Given the description of an element on the screen output the (x, y) to click on. 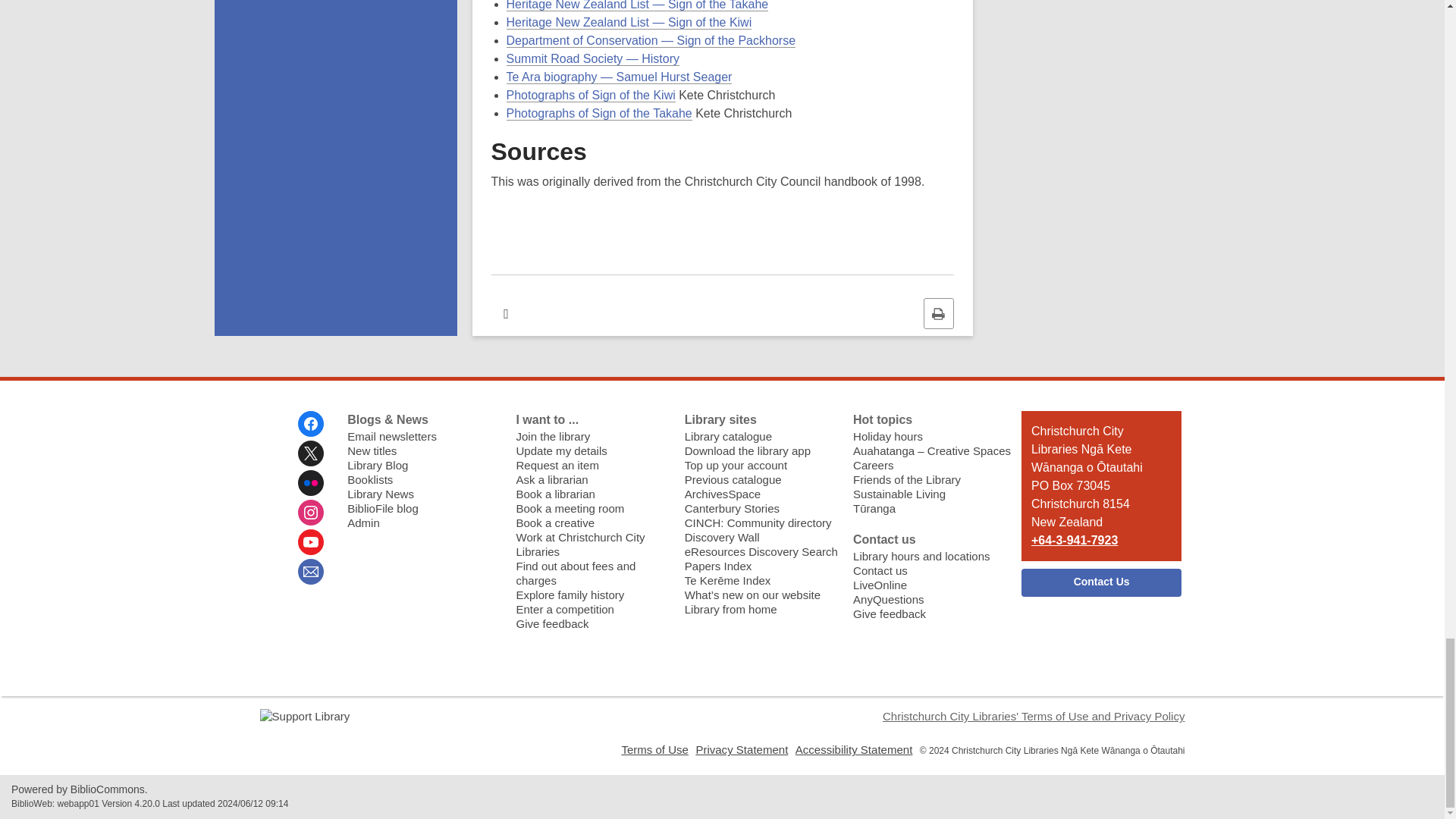
All our locations and hours (921, 555)
